Given the description of an element on the screen output the (x, y) to click on. 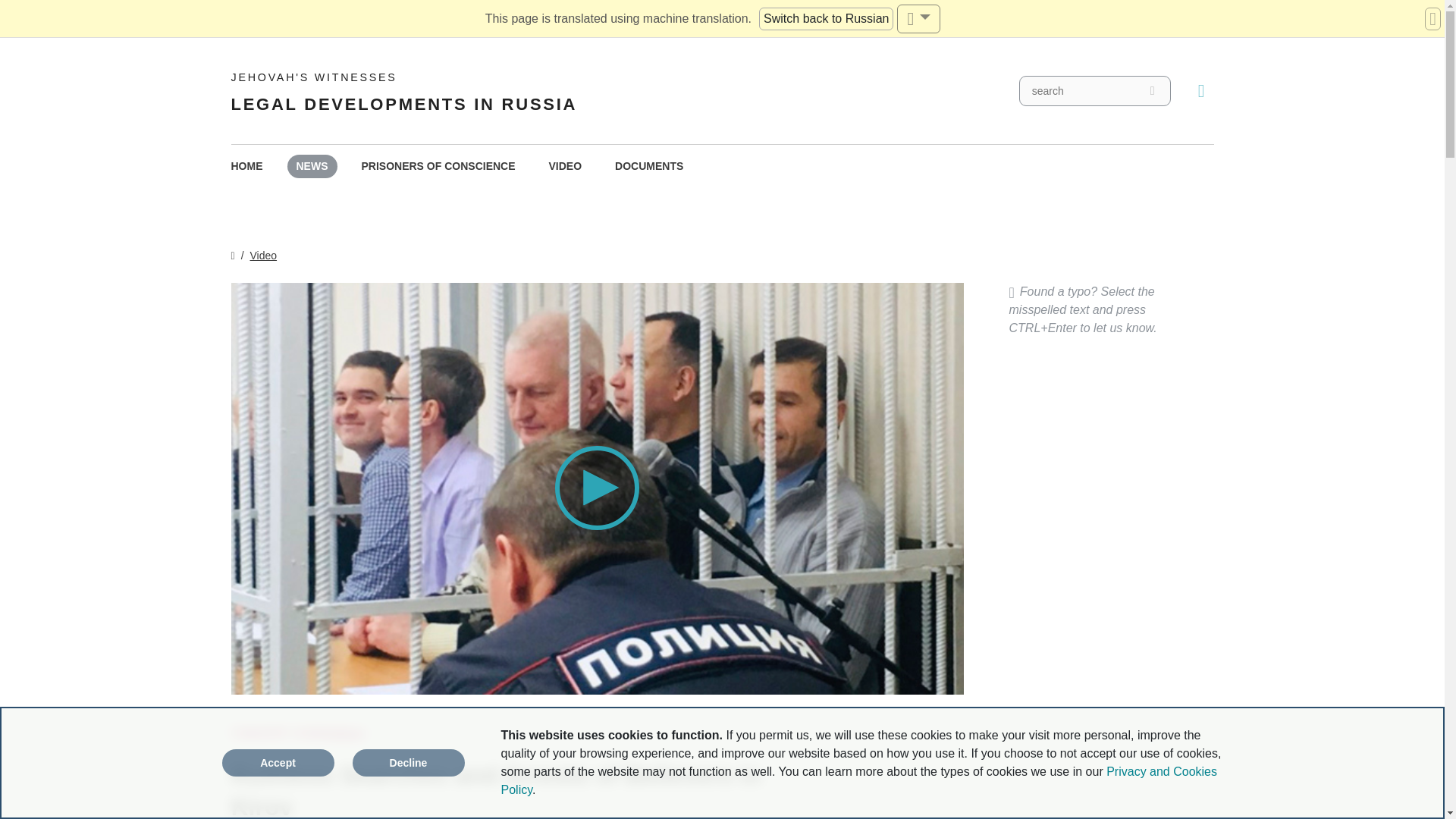
PRISONERS OF CONSCIENCE (438, 166)
VIDEO (403, 90)
DOCUMENTS (565, 166)
HOME (649, 166)
Switch back to Russian (245, 166)
Video (825, 18)
NEWS (264, 255)
